Given the description of an element on the screen output the (x, y) to click on. 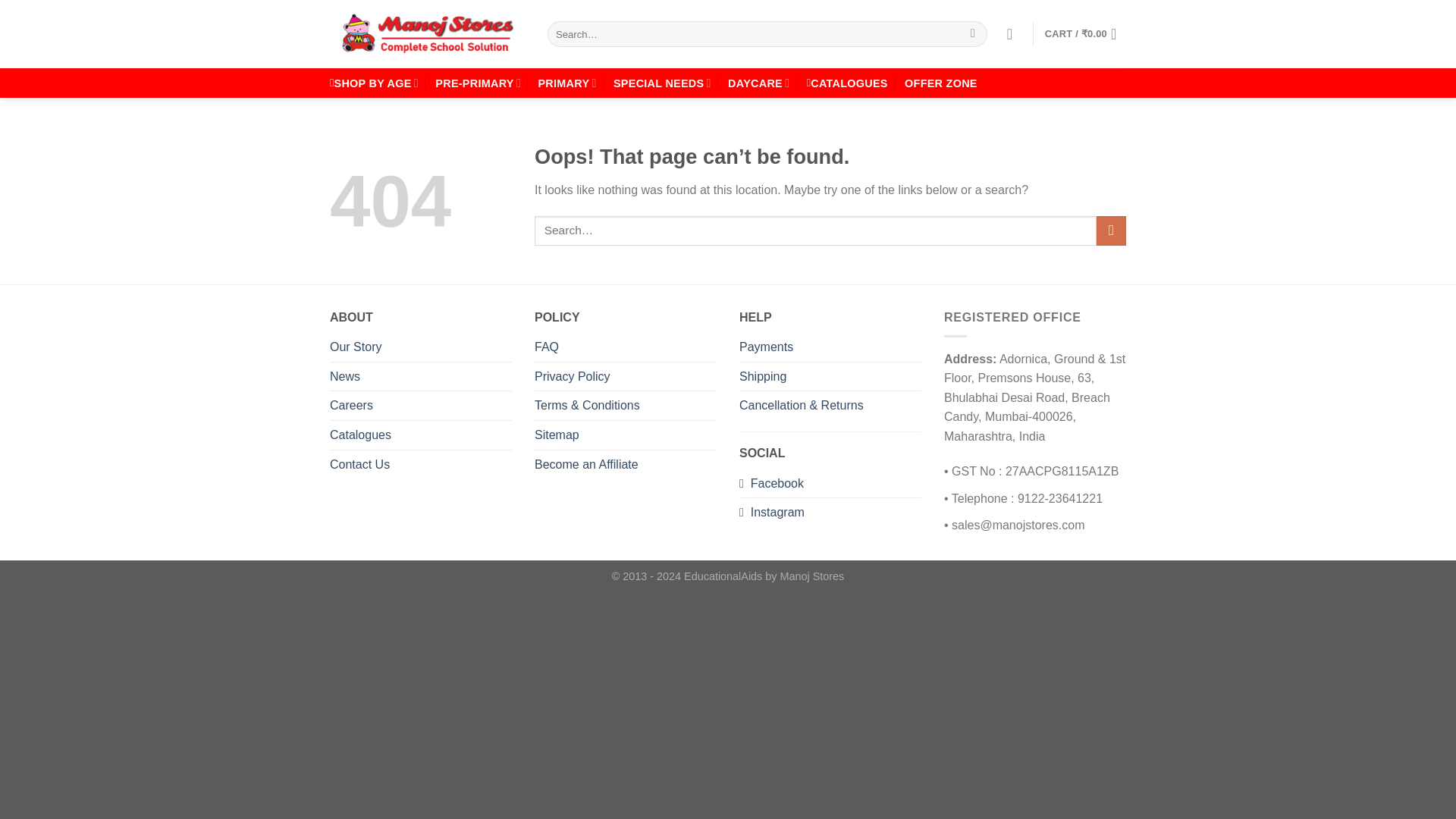
EducationalAids By Manoj Stores - Complete School Solution (427, 34)
SHOP BY AGE (374, 82)
Search (972, 33)
PRE-PRIMARY (478, 82)
PRIMARY (566, 82)
Cart (1085, 33)
